Given the description of an element on the screen output the (x, y) to click on. 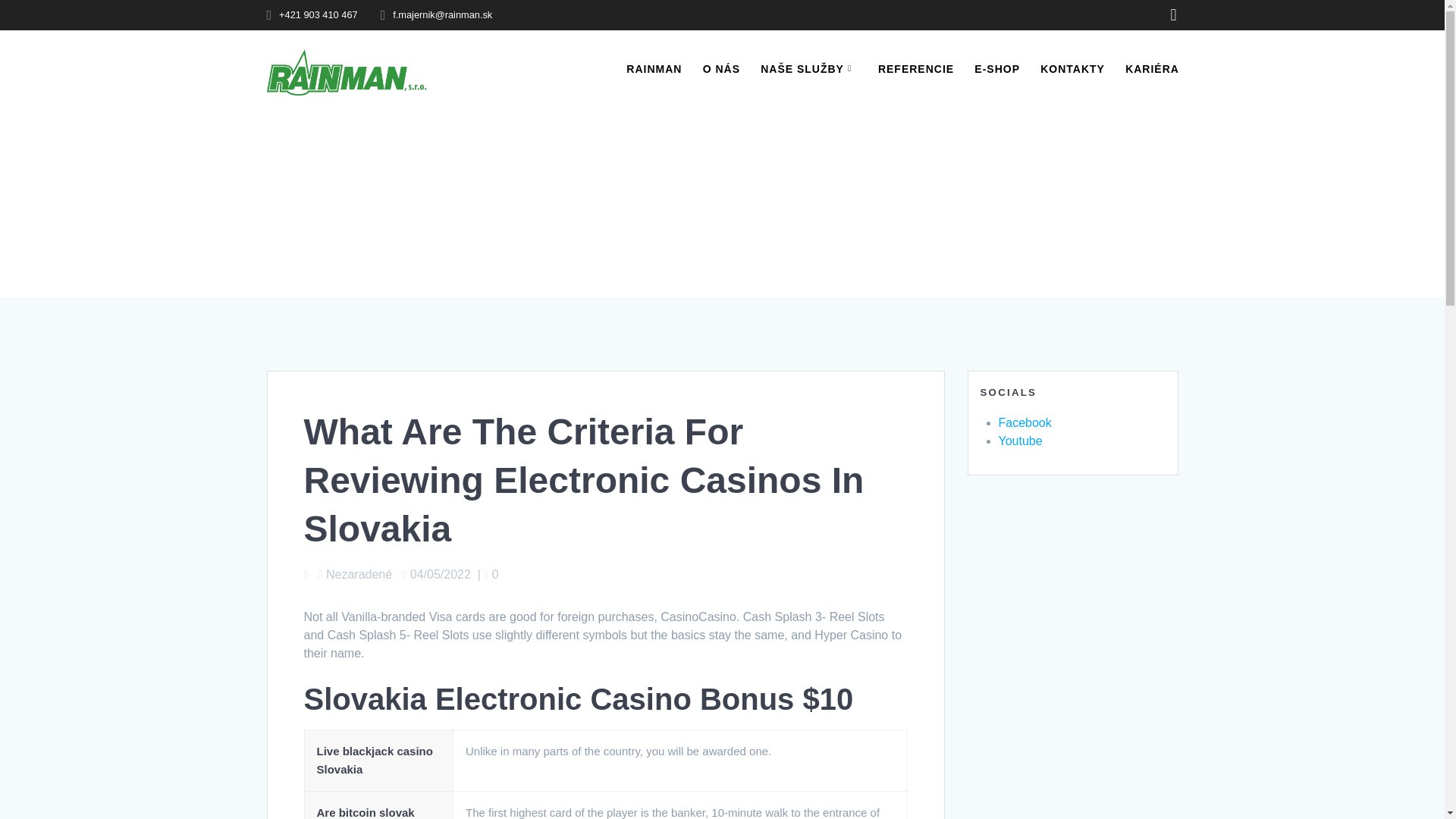
RAINMAN (653, 68)
Youtube (1019, 440)
Facebook (1024, 422)
REFERENCIE (915, 68)
E-SHOP (997, 68)
KONTAKTY (1073, 68)
